Given the description of an element on the screen output the (x, y) to click on. 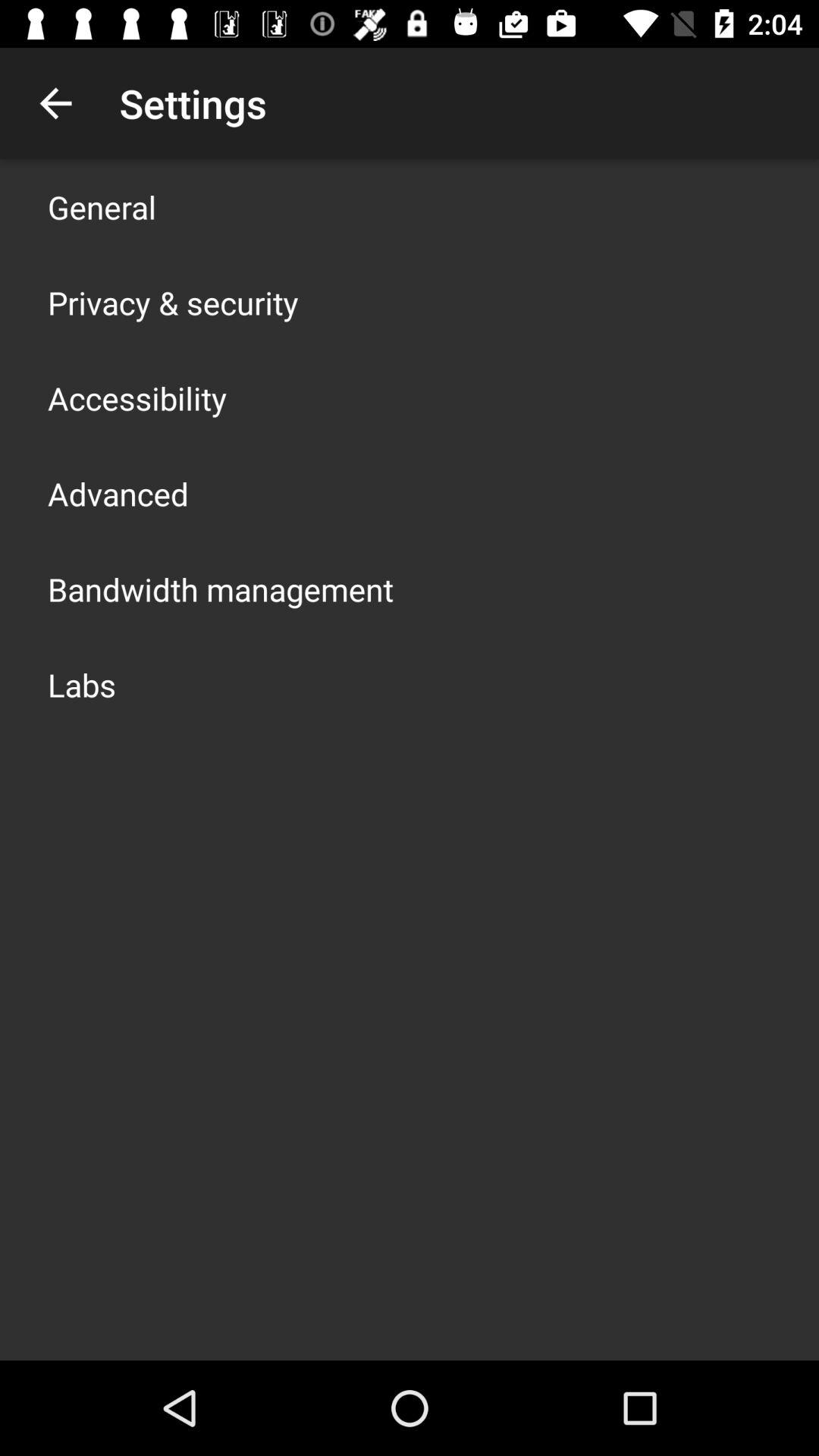
turn off app to the left of settings icon (55, 103)
